Given the description of an element on the screen output the (x, y) to click on. 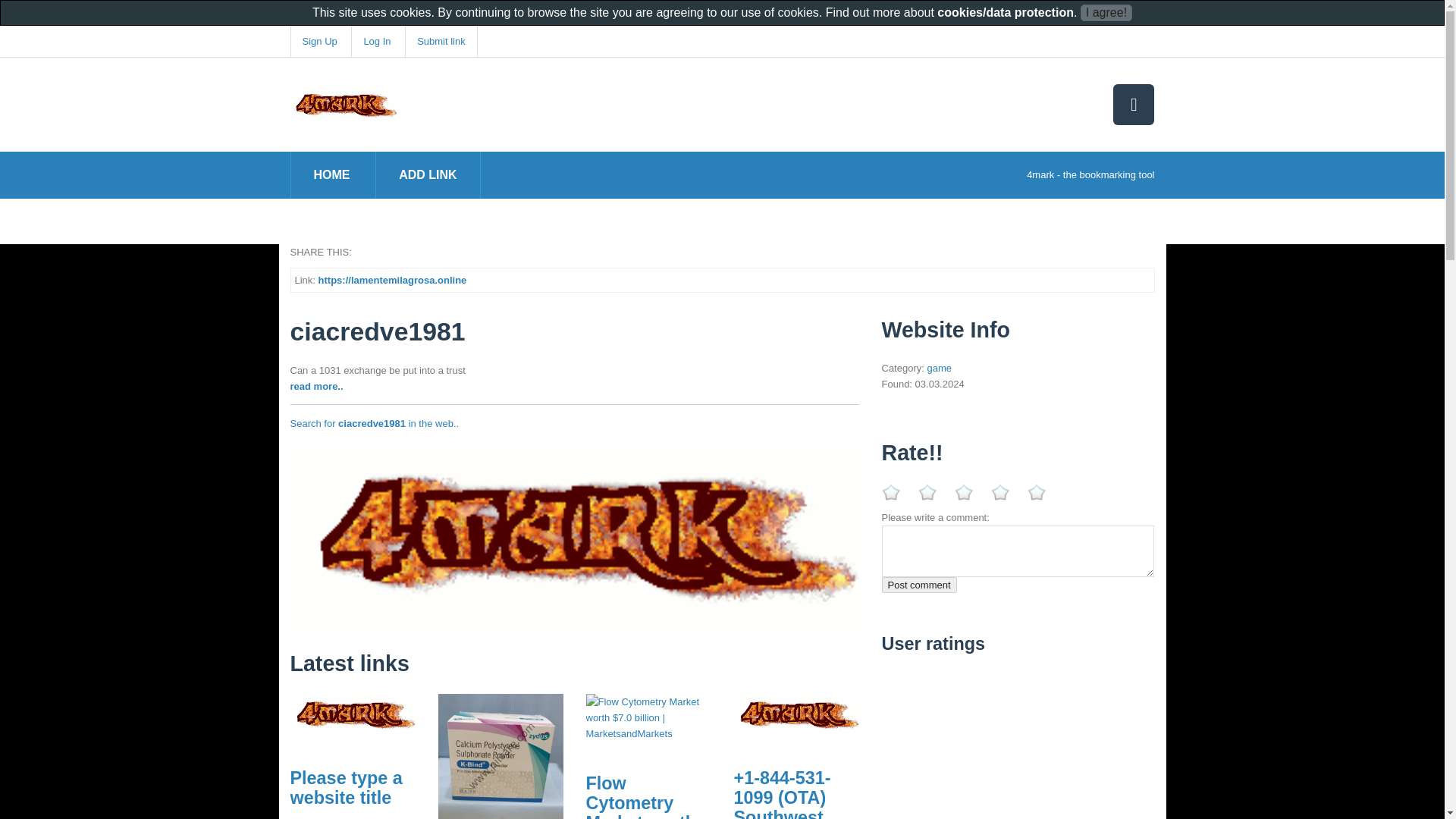
Log In (375, 40)
Search for ciacredve1981 in the web.. (373, 423)
Submit link (440, 40)
ADD LINK (427, 174)
Please type a website title (351, 714)
Click to view! (574, 536)
read more.. (315, 386)
Please type a website title (345, 787)
HOME (332, 174)
Sign Up (318, 40)
Post comment (918, 584)
I agree! (1106, 12)
